Given the description of an element on the screen output the (x, y) to click on. 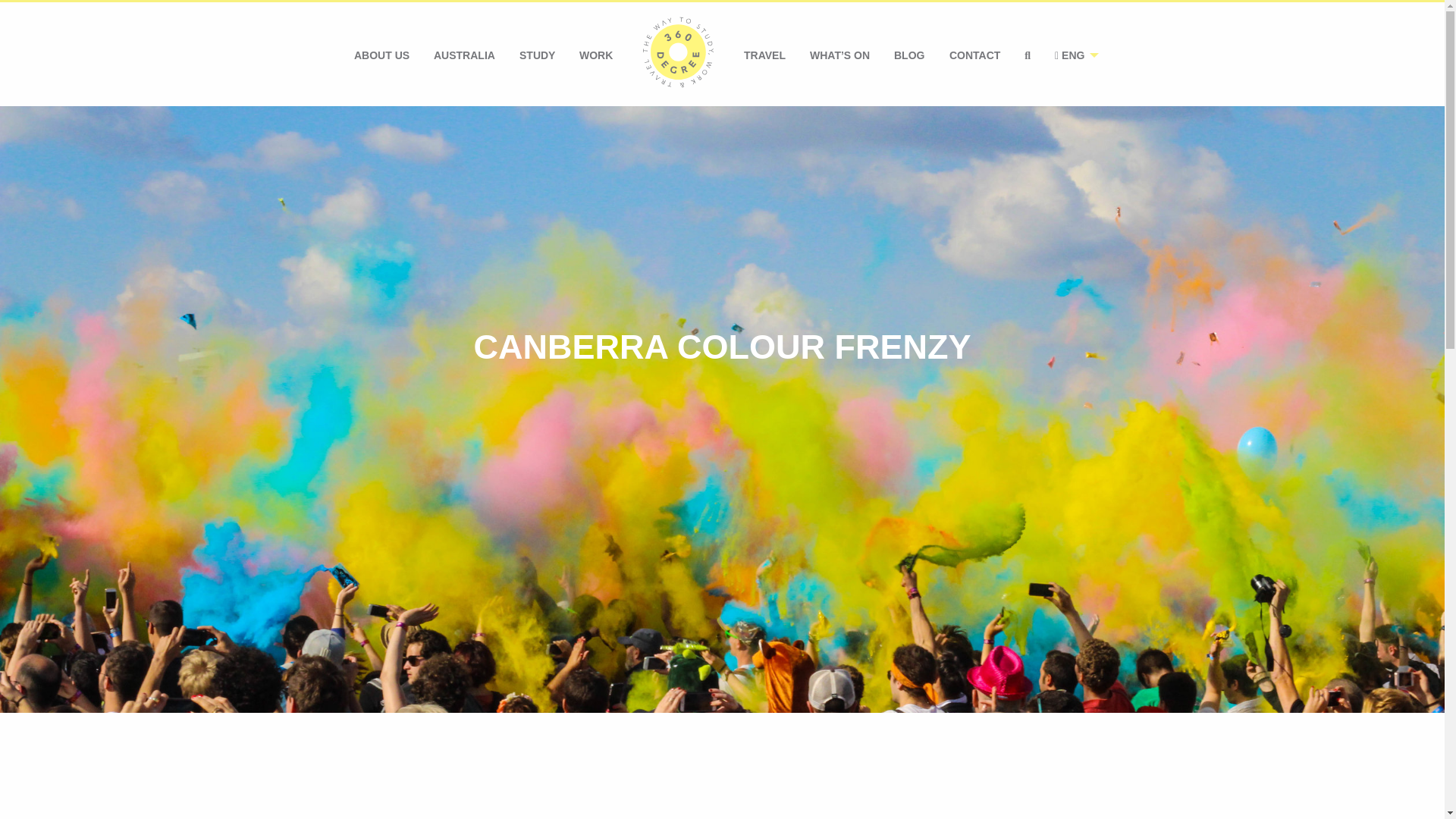
TRAVEL (764, 54)
ENG (1072, 54)
WORK (595, 54)
ABOUT US (382, 54)
BLOG (909, 54)
AUSTRALIA (464, 54)
STUDY (536, 54)
Pesquise aqui (1026, 54)
0 (678, 55)
CONTACT (974, 54)
ENG (1072, 54)
